Given the description of an element on the screen output the (x, y) to click on. 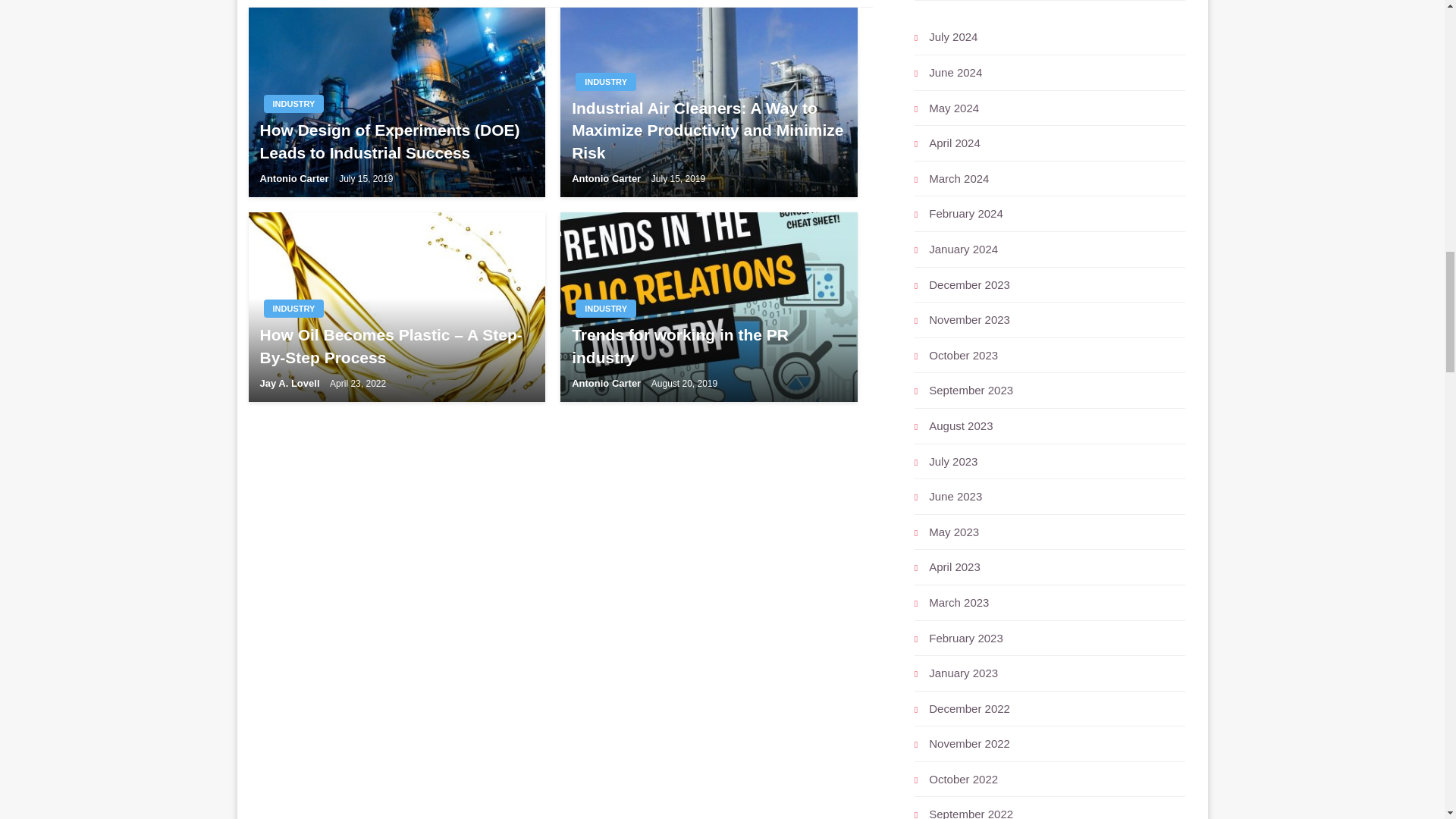
INDUSTRY (605, 308)
Trends for working in the PR industry (708, 345)
Antonio Carter (295, 178)
INDUSTRY (605, 81)
INDUSTRY (293, 308)
Jay A. Lovell (290, 383)
INDUSTRY (293, 104)
Antonio Carter (607, 178)
